Given the description of an element on the screen output the (x, y) to click on. 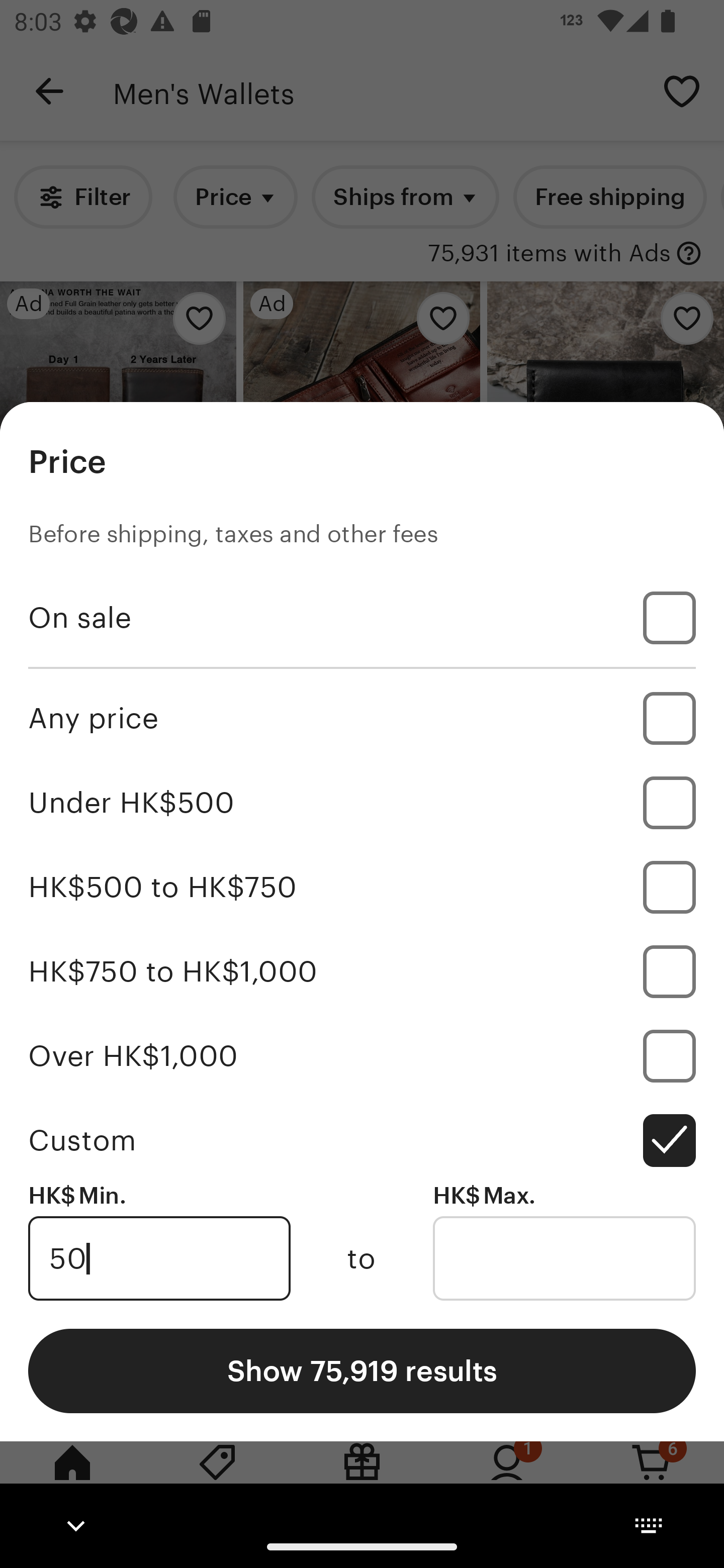
On sale (362, 617)
Any price (362, 717)
Under HK$500 (362, 802)
HK$500 to HK$750 (362, 887)
HK$750 to HK$1,000 (362, 970)
Over HK$1,000 (362, 1054)
Custom (362, 1139)
50 (159, 1257)
Show 75,919 results (361, 1370)
